Given the description of an element on the screen output the (x, y) to click on. 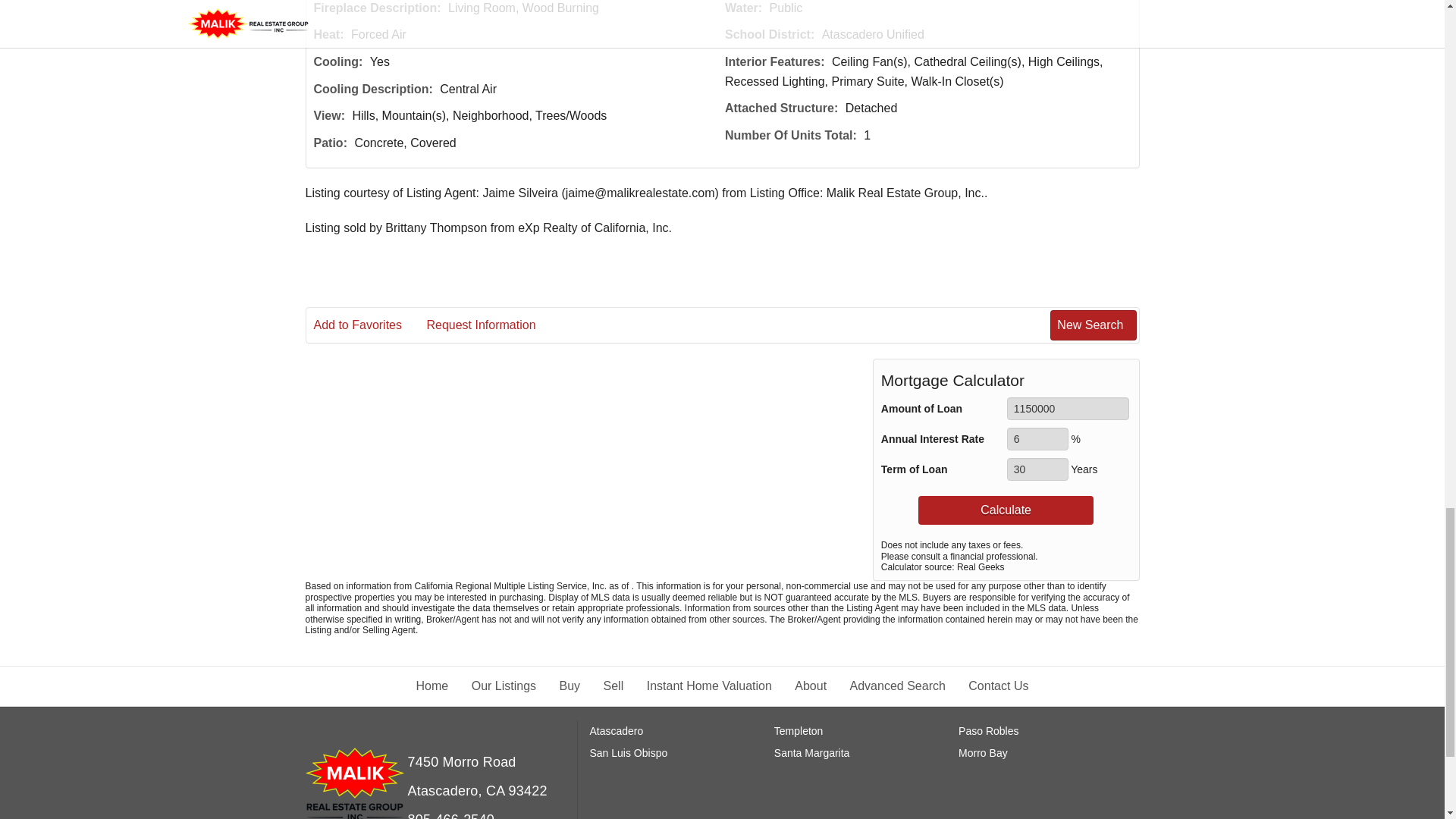
1150000 (1068, 408)
30 (1037, 468)
6 (1037, 438)
